Given the description of an element on the screen output the (x, y) to click on. 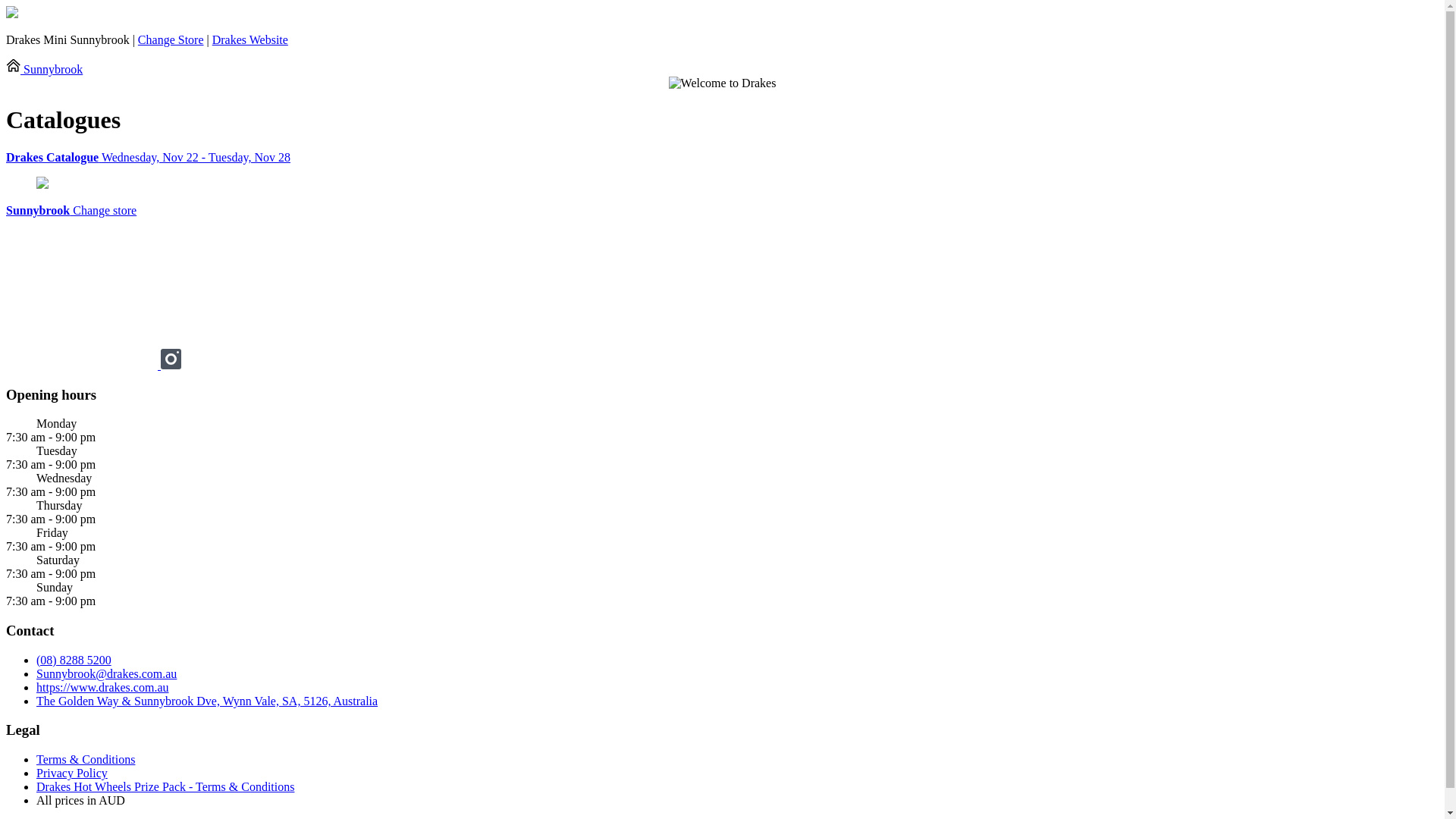
Instagram drakessupermarkets Element type: hover (170, 364)
Drakes Hot Wheels Prize Pack - Terms & Conditions Element type: text (165, 786)
Sunnybrook Change store Element type: text (71, 209)
Drakes Website Element type: text (250, 39)
Sunnybrook@drakes.com.au Element type: text (106, 673)
Facebook Element type: hover (83, 364)
(08) 8288 5200 Element type: text (73, 659)
Privacy Policy Element type: text (71, 772)
Sunnybrook Element type: text (44, 68)
Drakes Catalogue Wednesday, Nov 22 - Tuesday, Nov 28 Element type: text (722, 156)
Change Store Element type: text (170, 39)
https://www.drakes.com.au Element type: text (102, 686)
Terms & Conditions Element type: text (85, 759)
